Given the description of an element on the screen output the (x, y) to click on. 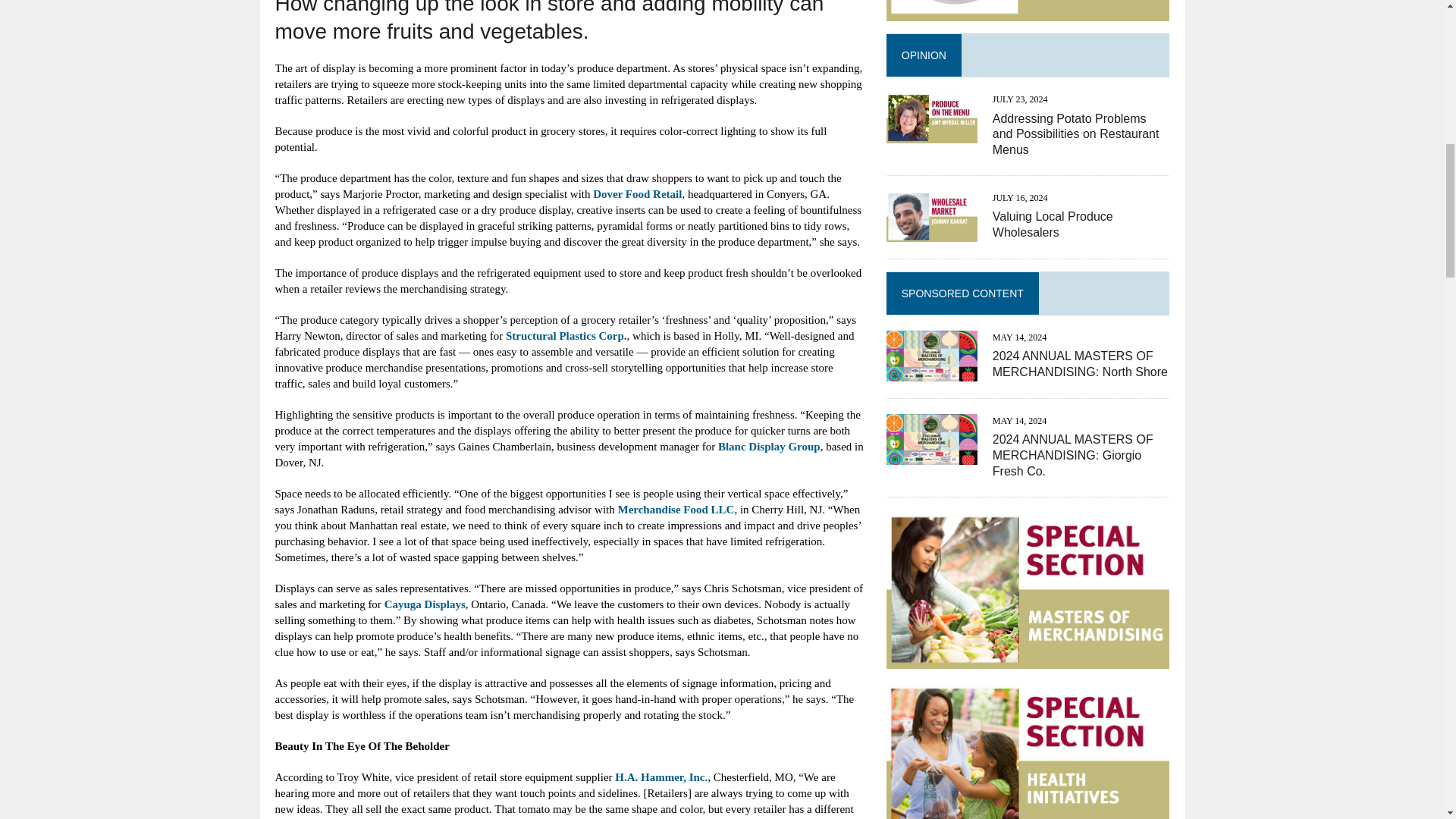
Valuing Local Produce Wholesalers (931, 231)
Valuing Local Produce Wholesalers (1052, 224)
